Given the description of an element on the screen output the (x, y) to click on. 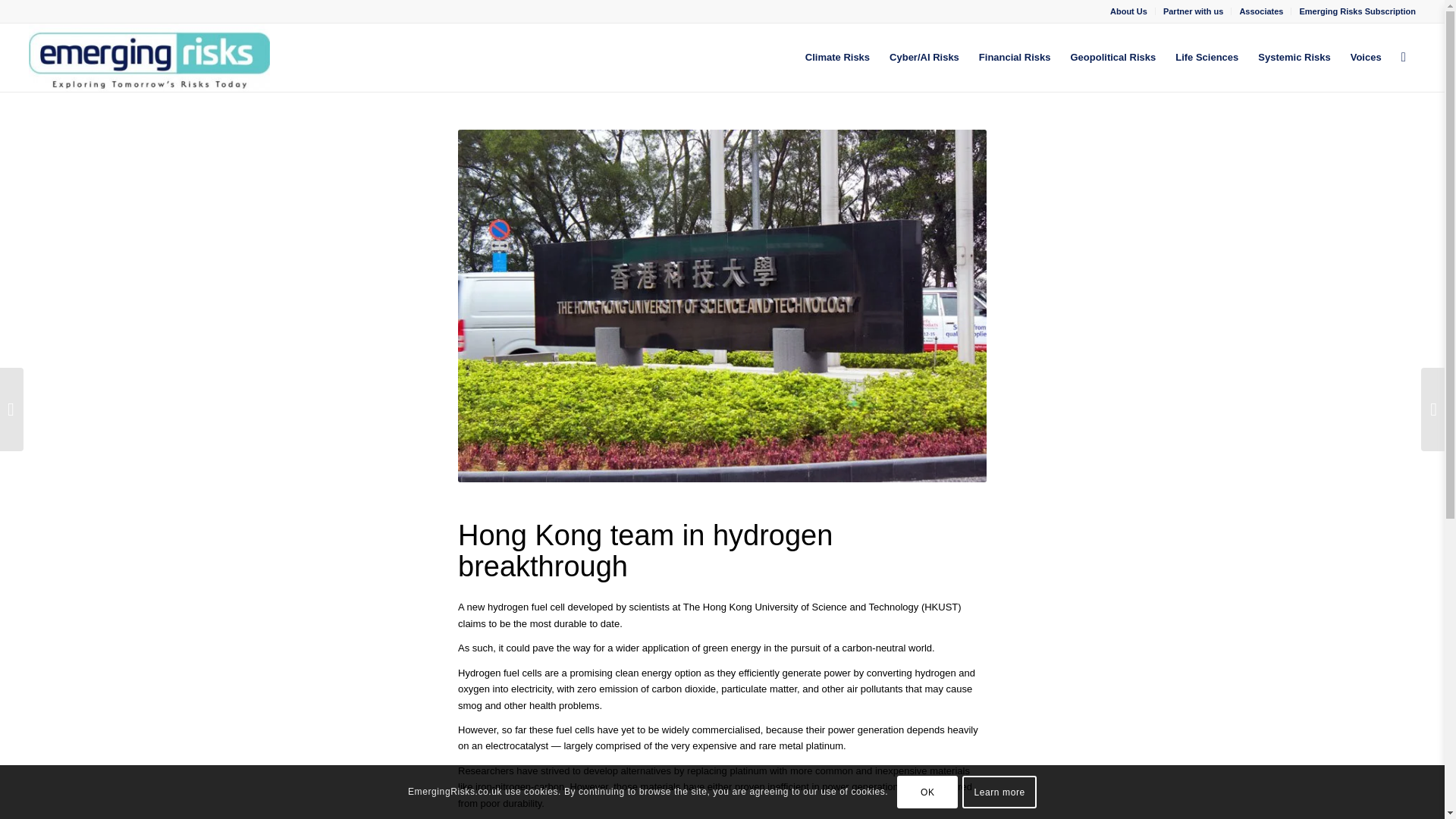
Geopolitical Risks (1112, 57)
Partner with us (1193, 11)
Financial Risks (1015, 57)
Associates (1260, 11)
Climate Risks (836, 57)
Systemic Risks (1293, 57)
Life Sciences (1206, 57)
About Us (1128, 11)
Emerging Risks Subscription (1356, 11)
